Given the description of an element on the screen output the (x, y) to click on. 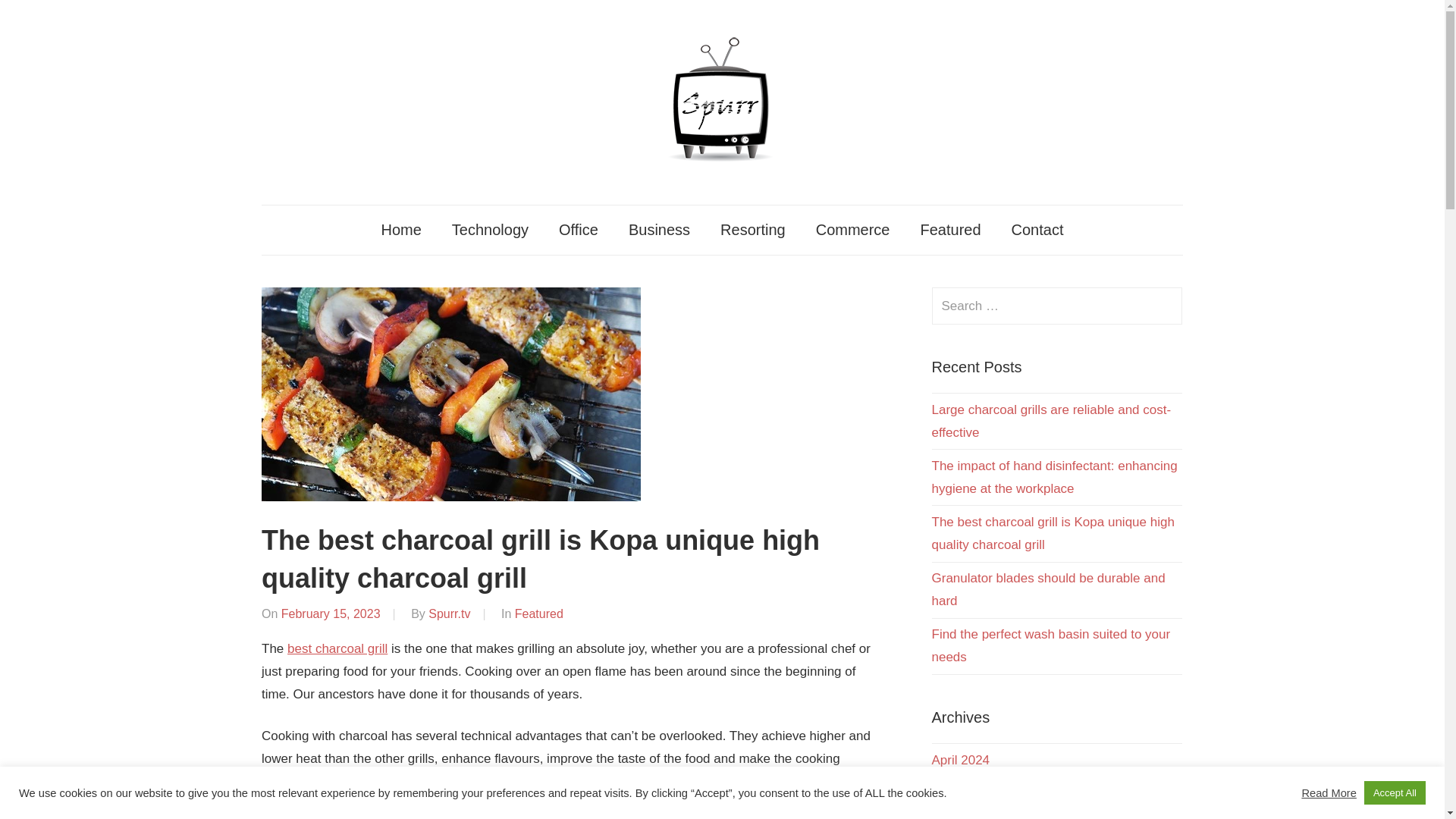
Granulator blades should be durable and hard (1047, 589)
Commerce (852, 228)
February 15, 2023 (330, 613)
Spurr.tv (449, 613)
Search for: (1056, 305)
April 2024 (960, 759)
Contact (1036, 228)
10:39 am (330, 613)
Home (400, 228)
best charcoal grill (336, 648)
